Given the description of an element on the screen output the (x, y) to click on. 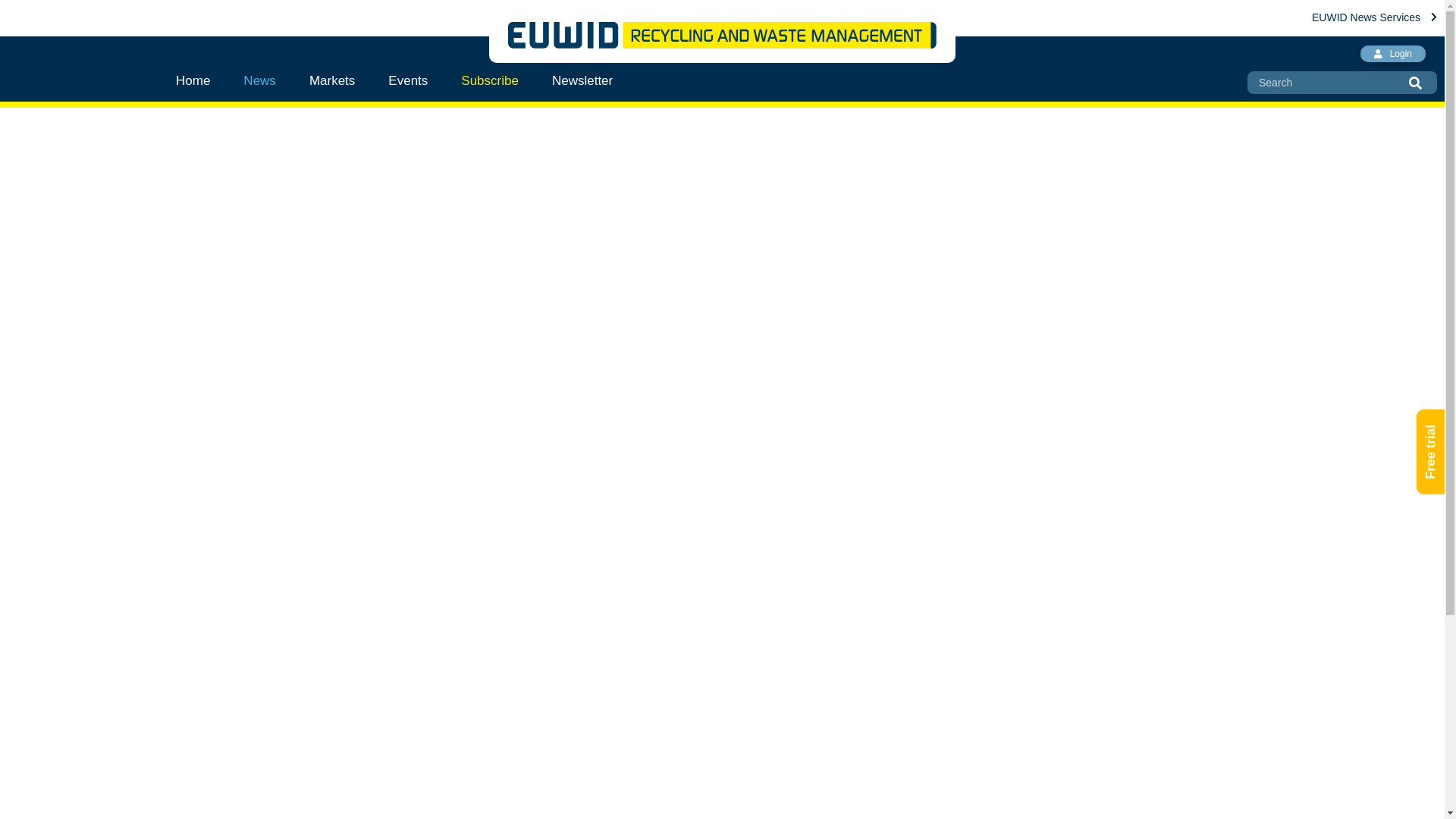
News (259, 80)
Home (201, 80)
Login (1392, 53)
EUWID News Services (1374, 17)
Subscribe (489, 80)
Newsletter (581, 80)
Markets (331, 80)
Events (407, 80)
